Given the description of an element on the screen output the (x, y) to click on. 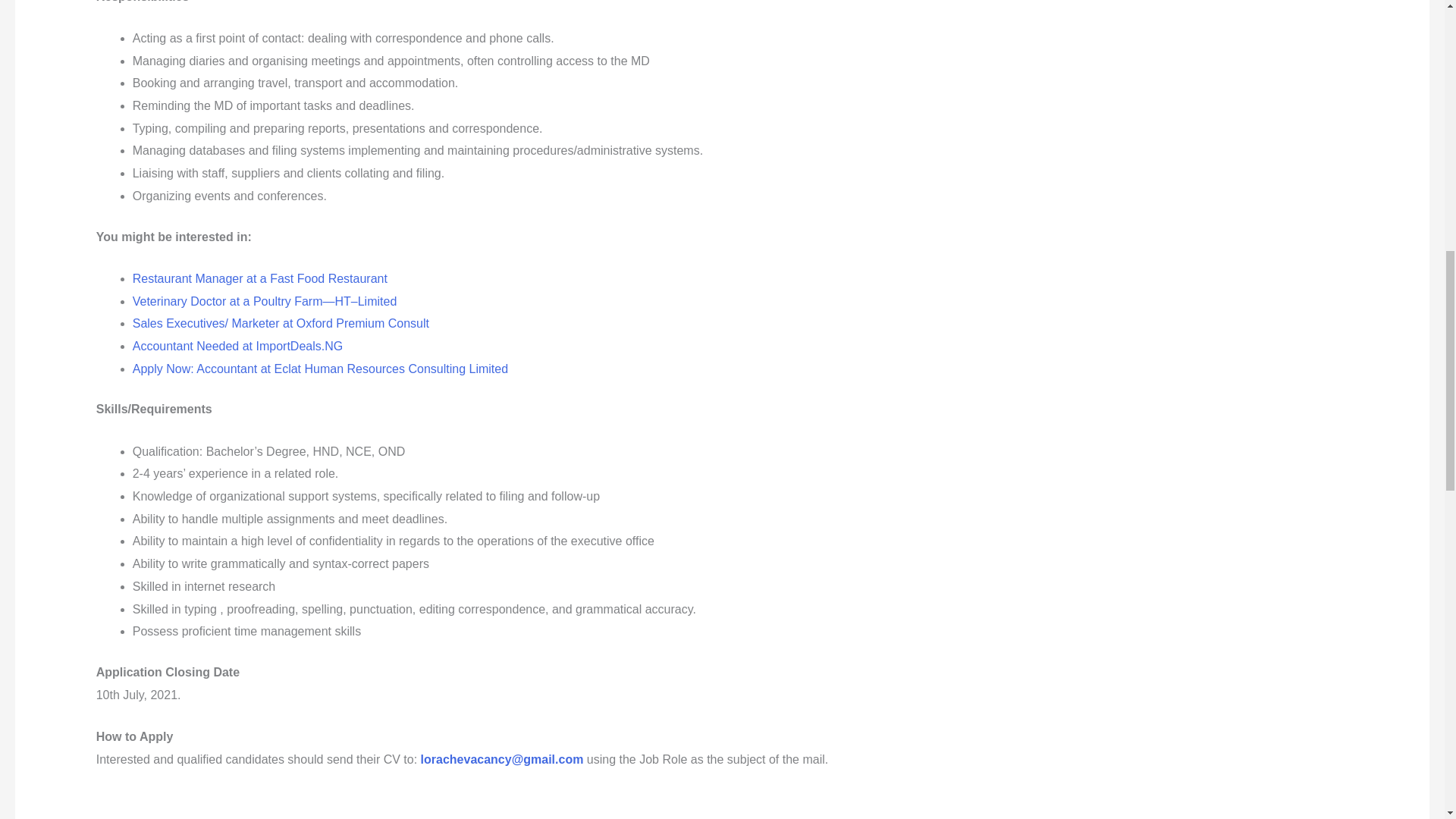
Restaurant Manager at a Fast Food Restaurant (259, 278)
Accountant Needed at ImportDeals.NG (237, 345)
